Given the description of an element on the screen output the (x, y) to click on. 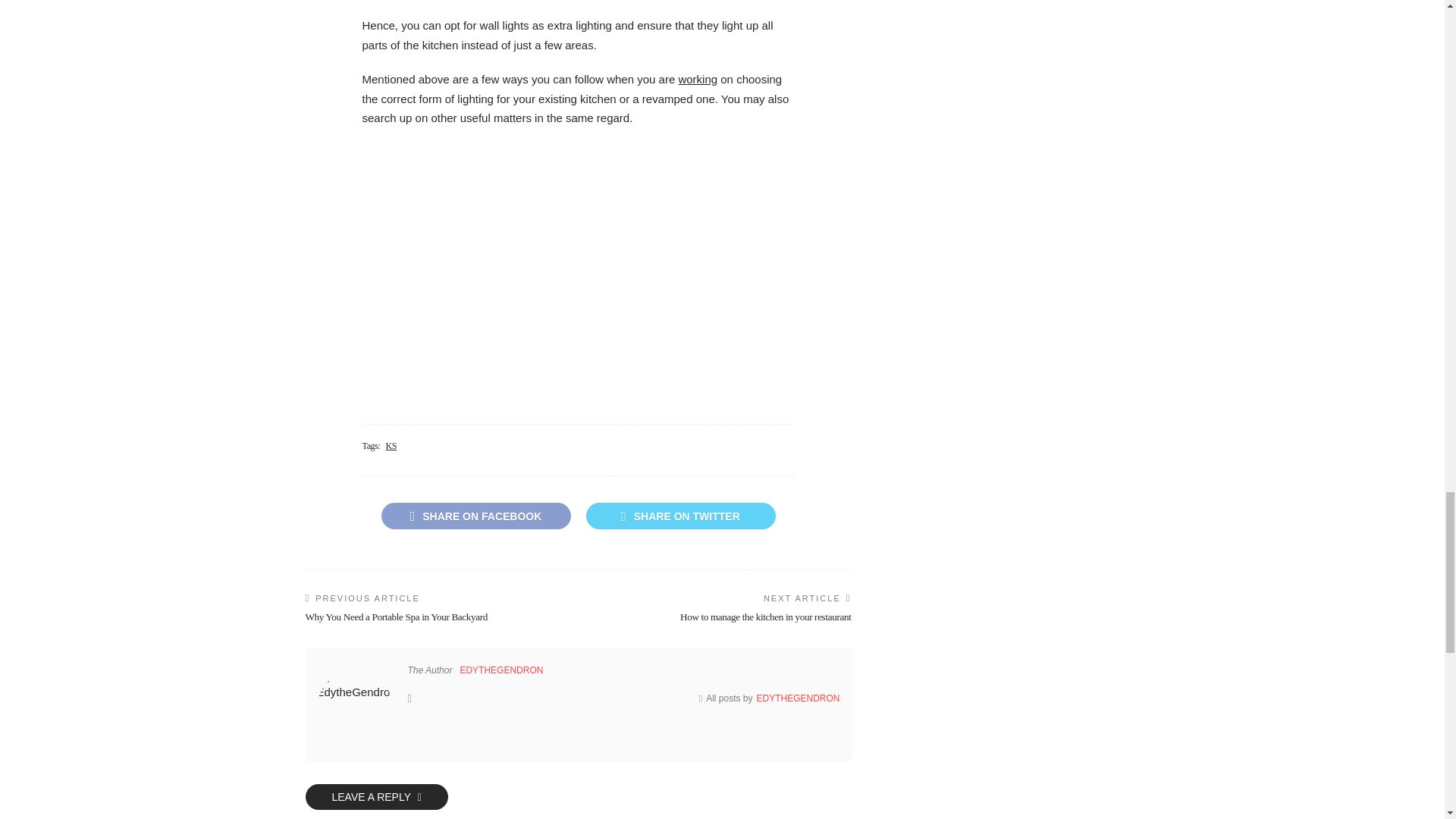
Why You Need a Portable Spa in Your Backyard (395, 616)
How to manage the kitchen in your restaurant (765, 616)
working (697, 78)
working (697, 78)
